Given the description of an element on the screen output the (x, y) to click on. 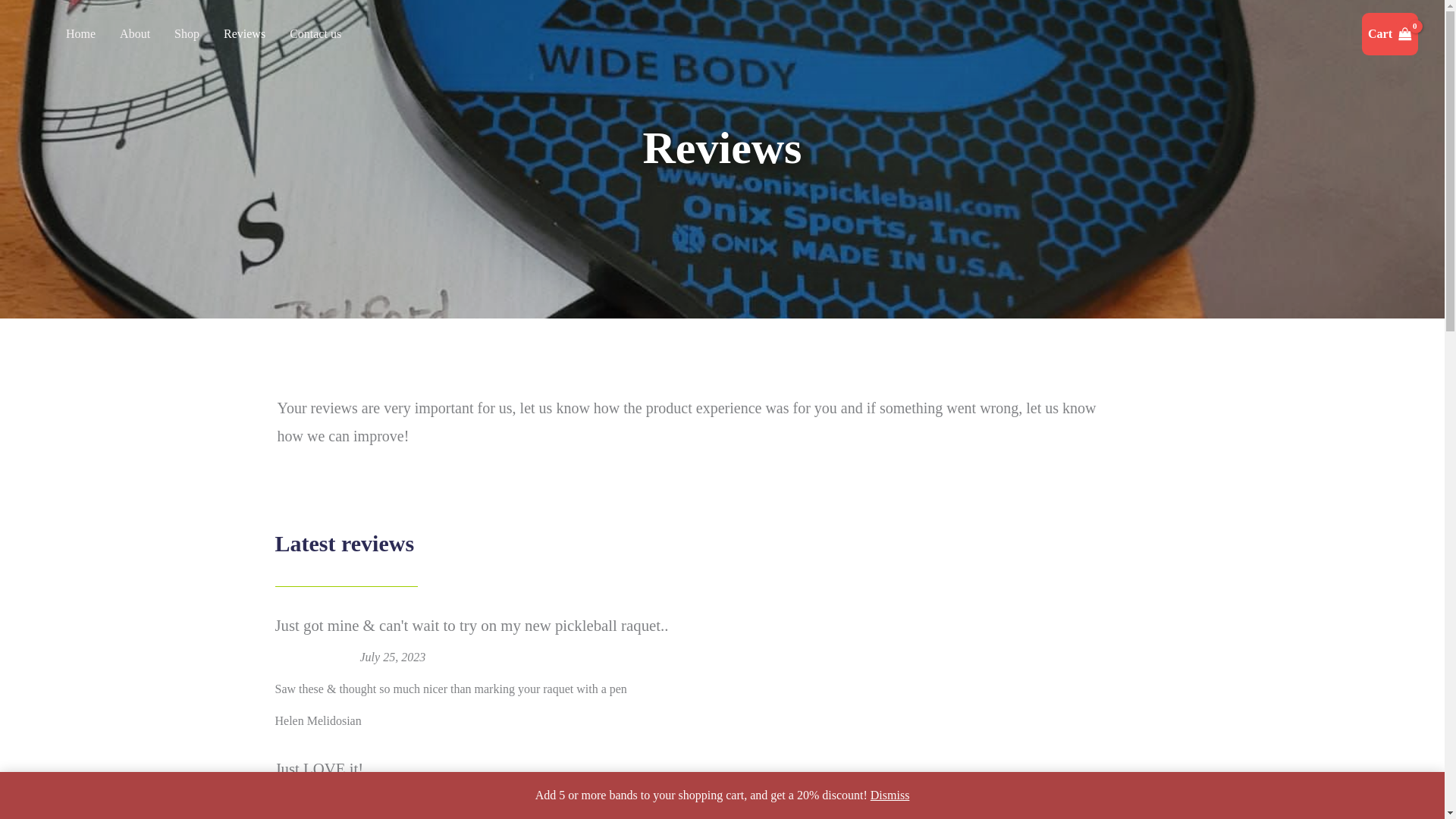
Home (80, 33)
Cart (1389, 34)
About (134, 33)
Dismiss (890, 794)
Reviews (244, 33)
Contact us (315, 33)
Shop (186, 33)
